Given the description of an element on the screen output the (x, y) to click on. 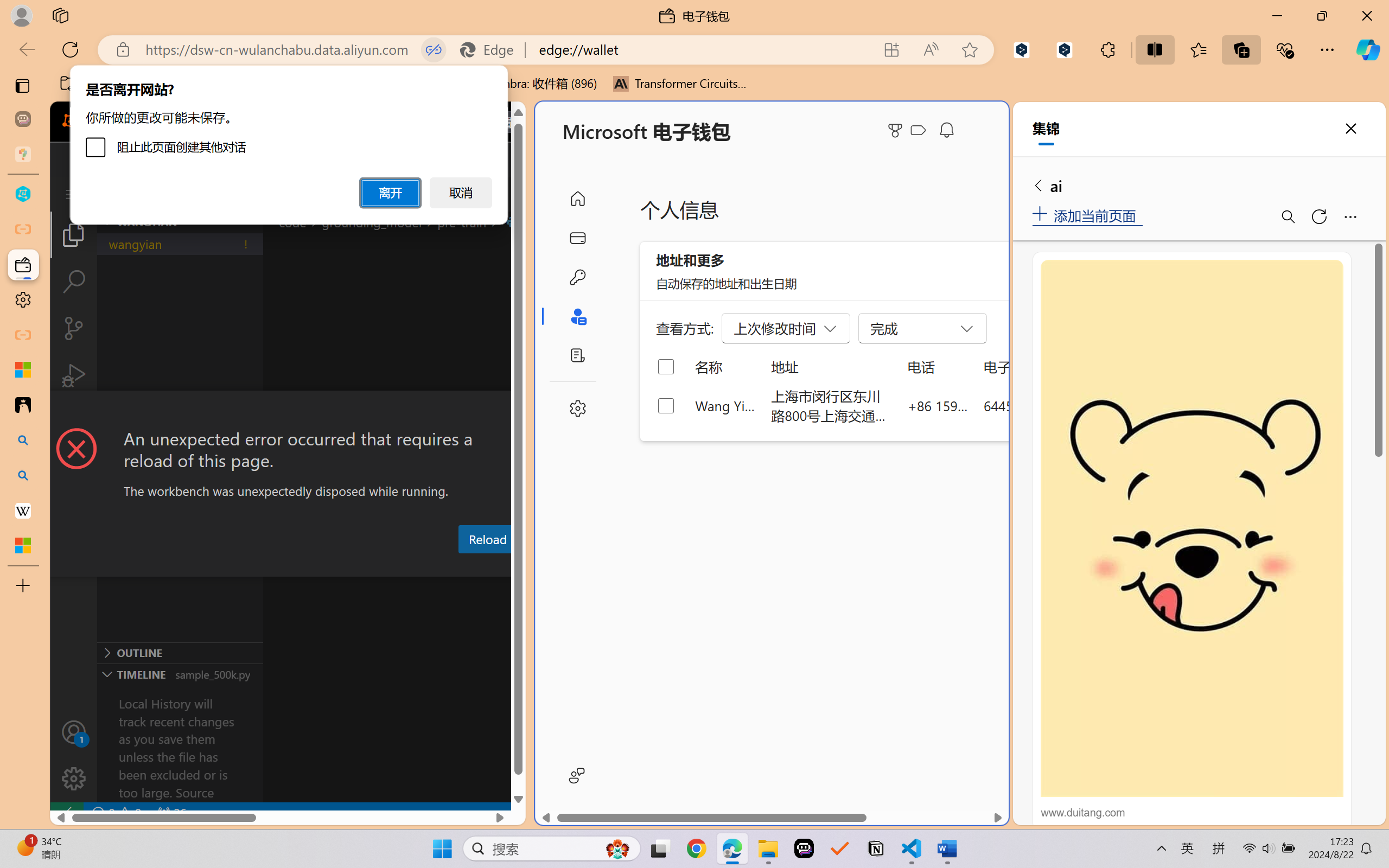
No Problems (115, 812)
Terminal (Ctrl+`) (553, 565)
Manage (73, 755)
